Given the description of an element on the screen output the (x, y) to click on. 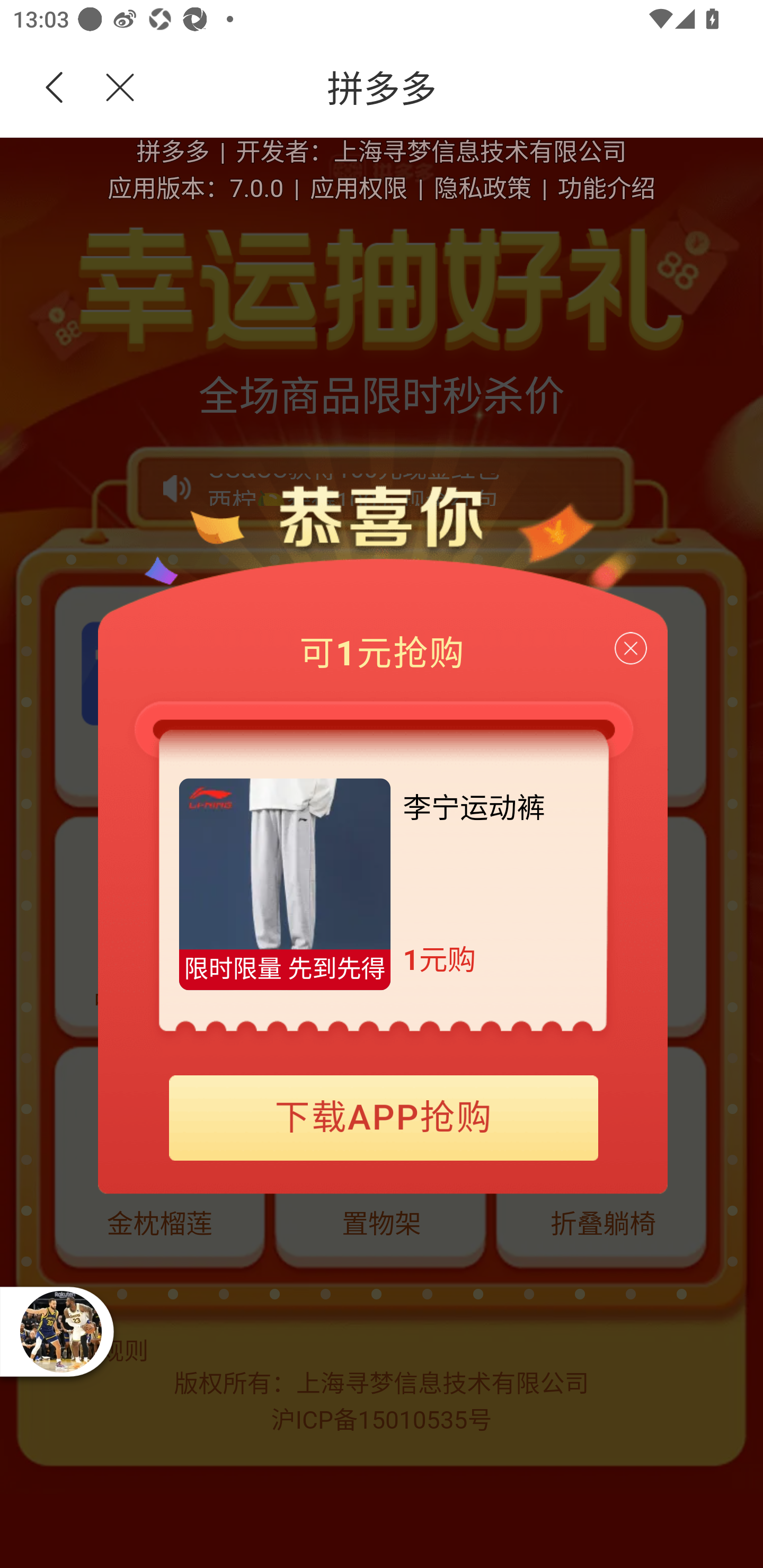
 (109, 87)
拼多多 (451, 87)
 返回 (54, 87)
播放器 (60, 1331)
